Given the description of an element on the screen output the (x, y) to click on. 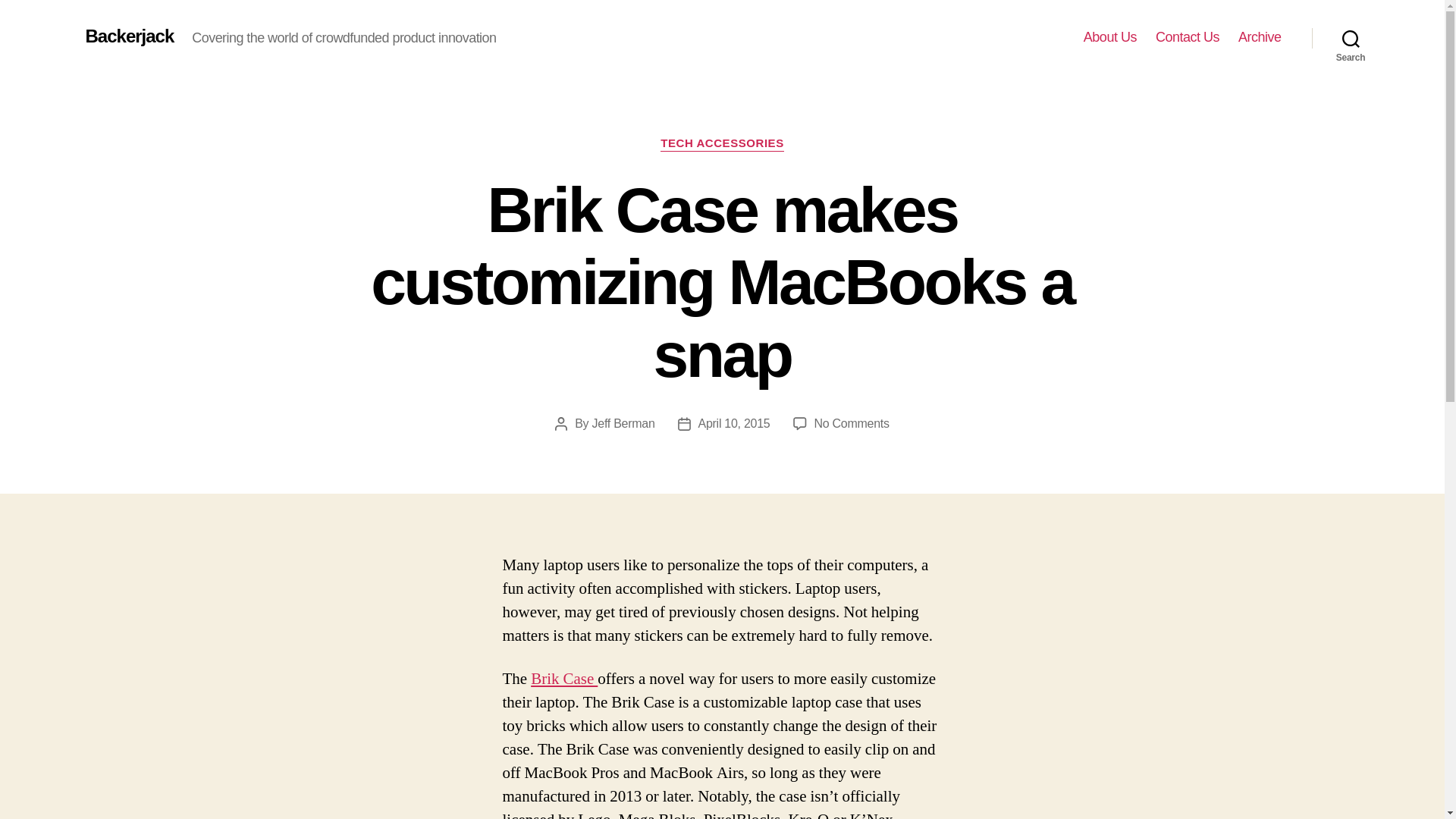
TECH ACCESSORIES (722, 143)
Search (851, 422)
About Us (1350, 37)
Jeff Berman (1110, 37)
Archive (623, 422)
Contact Us (1260, 37)
Backerjack (1188, 37)
Brik Case (128, 36)
April 10, 2015 (563, 679)
